Given the description of an element on the screen output the (x, y) to click on. 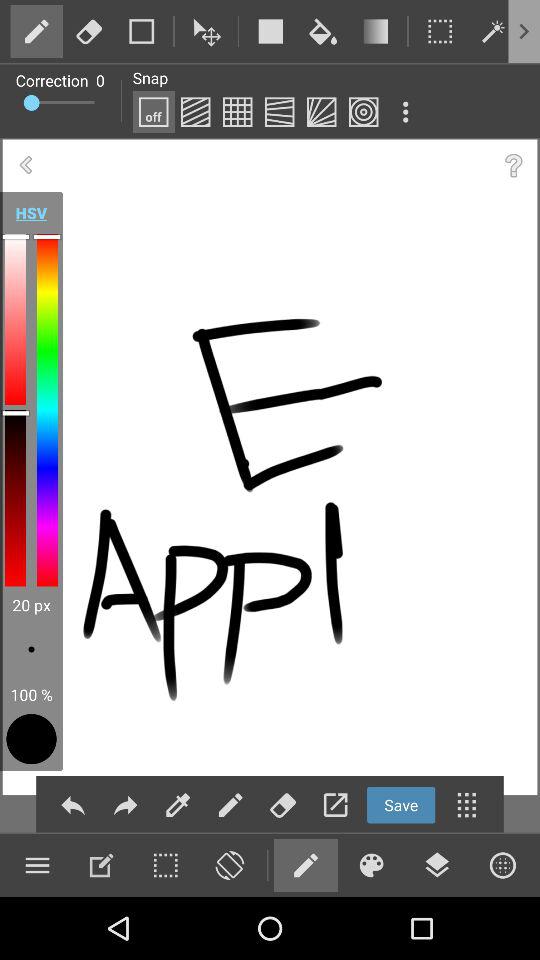
open color (371, 865)
